Given the description of an element on the screen output the (x, y) to click on. 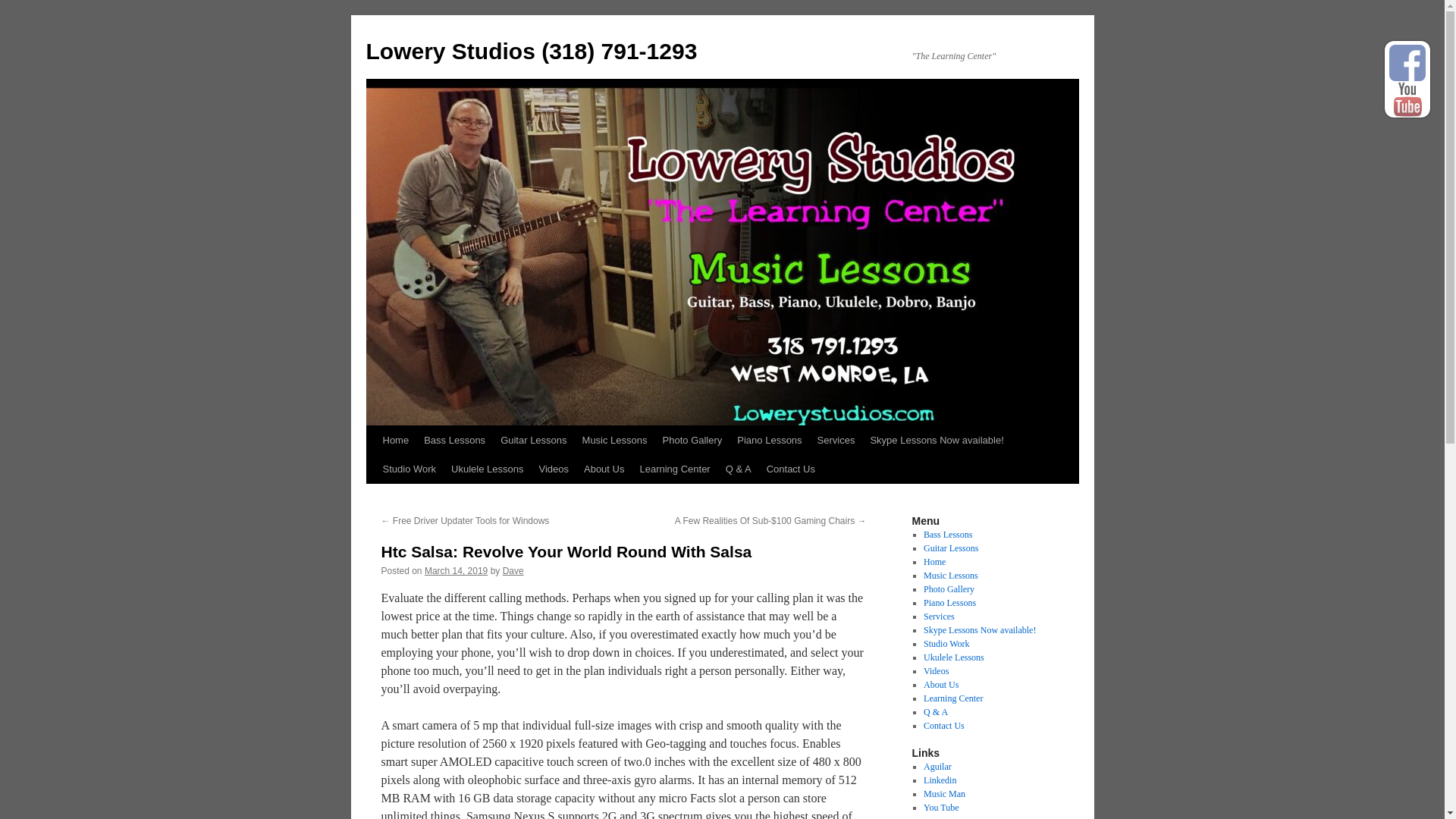
Bass Lessons (947, 534)
Aguilar Bass Equipment (937, 766)
Contact Us (943, 725)
March 14, 2019 (456, 570)
Videos (553, 469)
1:19 am (456, 570)
Guitar Lessons (950, 547)
Studio Work (946, 643)
Skype Lessons Now available! (979, 629)
Services (939, 615)
Music Lessons (615, 440)
Learning Center (952, 697)
Music Lessons (950, 575)
Photo Gallery (948, 588)
Guitar Lessons (533, 440)
